Given the description of an element on the screen output the (x, y) to click on. 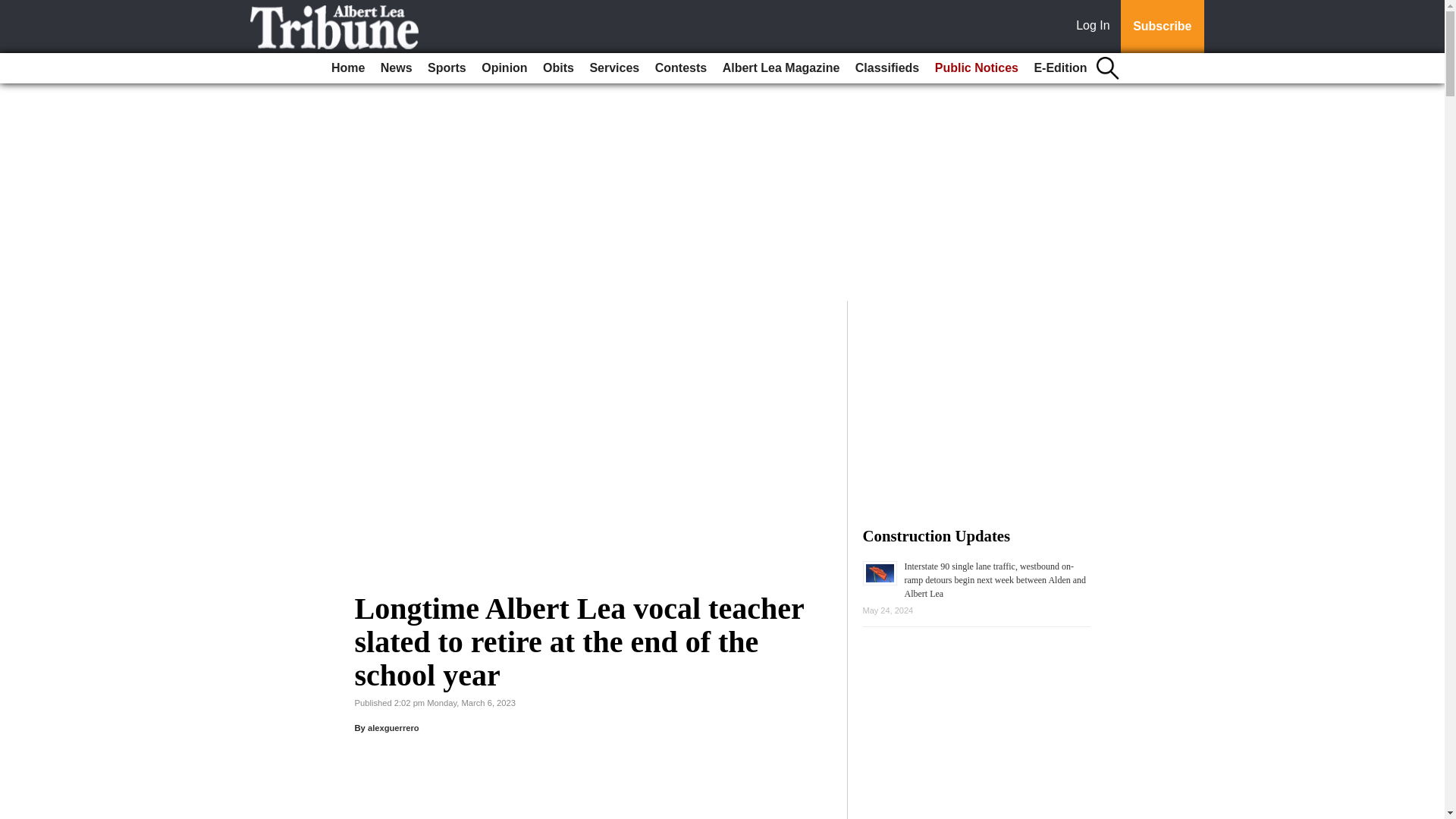
Sports (446, 68)
Log In (1095, 26)
Services (614, 68)
Obits (558, 68)
News (396, 68)
Opinion (504, 68)
Subscribe (1162, 26)
Home (347, 68)
